Given the description of an element on the screen output the (x, y) to click on. 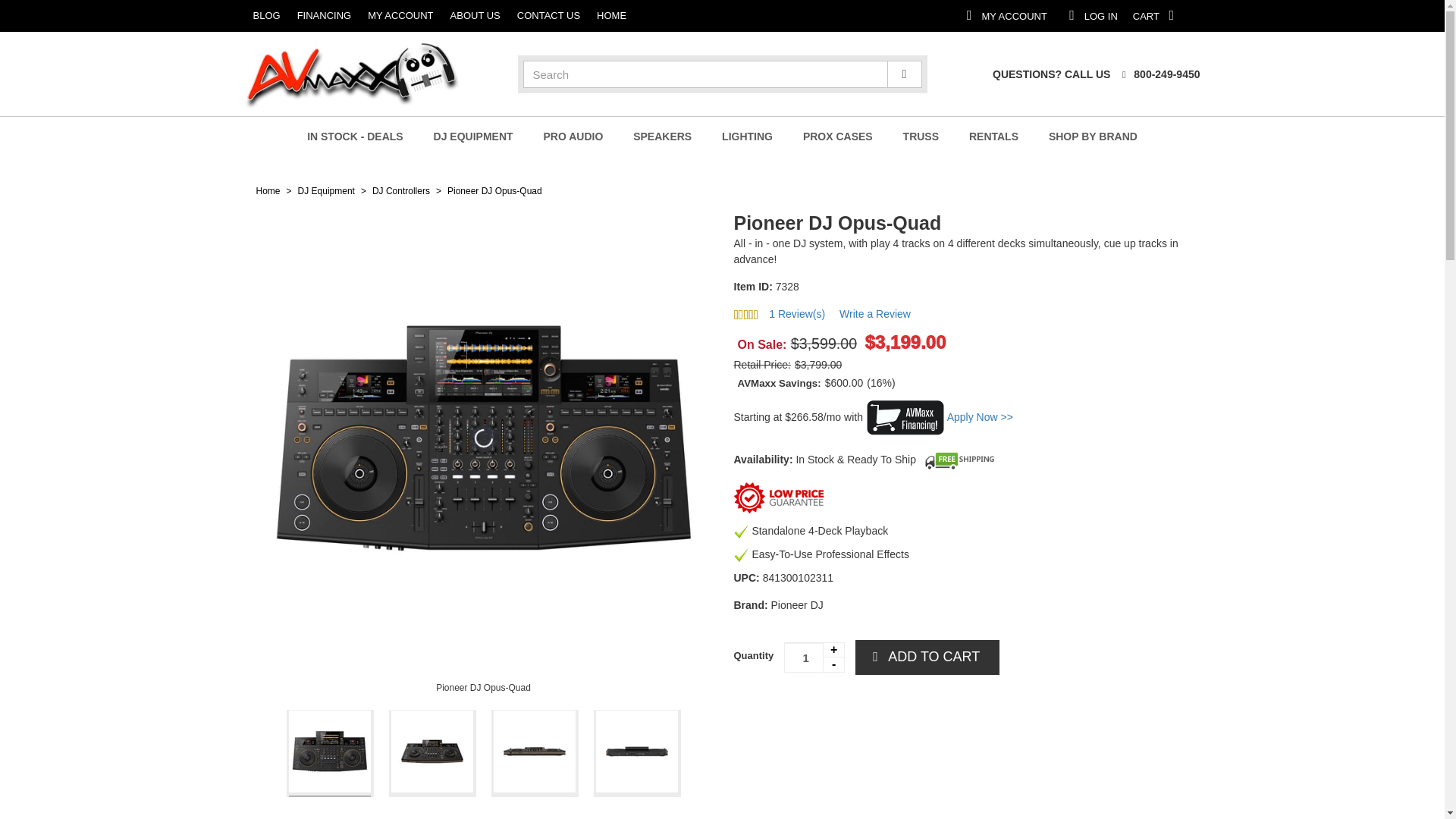
HOME (362, 15)
MY ACCOUNT (44, 15)
800-249-9450 (1157, 74)
ABOUT US (1291, 15)
Pioneer DJ Opus-Quad  (155, 15)
Pioneer DJ Opus-Quad  (483, 687)
IN STOCK - DEALS (330, 753)
CONTACT US (355, 136)
DJ EQUIPMENT (1178, 15)
1 (265, 15)
